Given the description of an element on the screen output the (x, y) to click on. 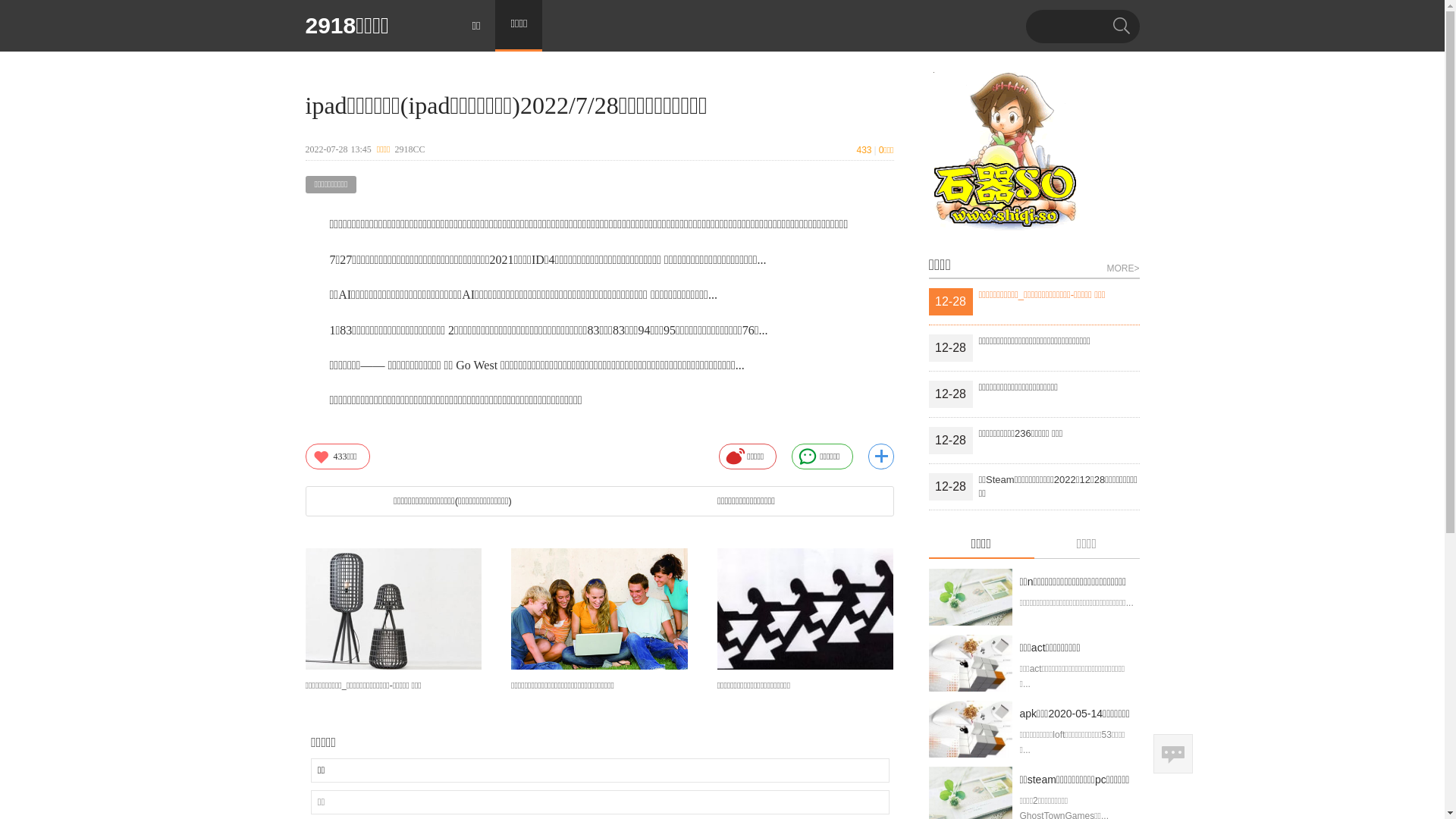
MORE> Element type: text (1122, 266)
